Given the description of an element on the screen output the (x, y) to click on. 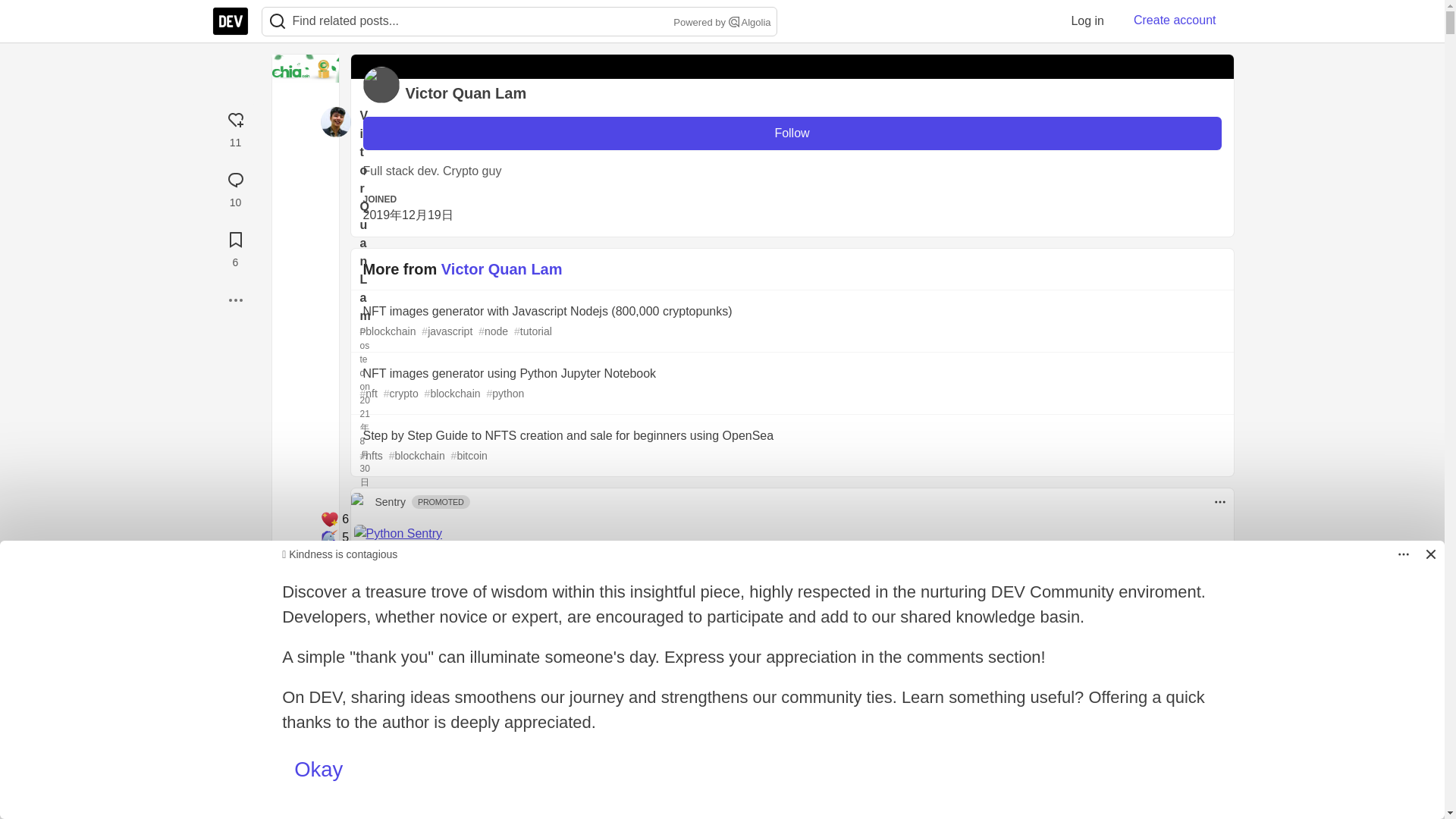
10 (235, 187)
6 (235, 247)
More... (234, 299)
Powered by Algolia (720, 22)
Create account (1174, 20)
Log in (1087, 20)
More... (234, 300)
